Given the description of an element on the screen output the (x, y) to click on. 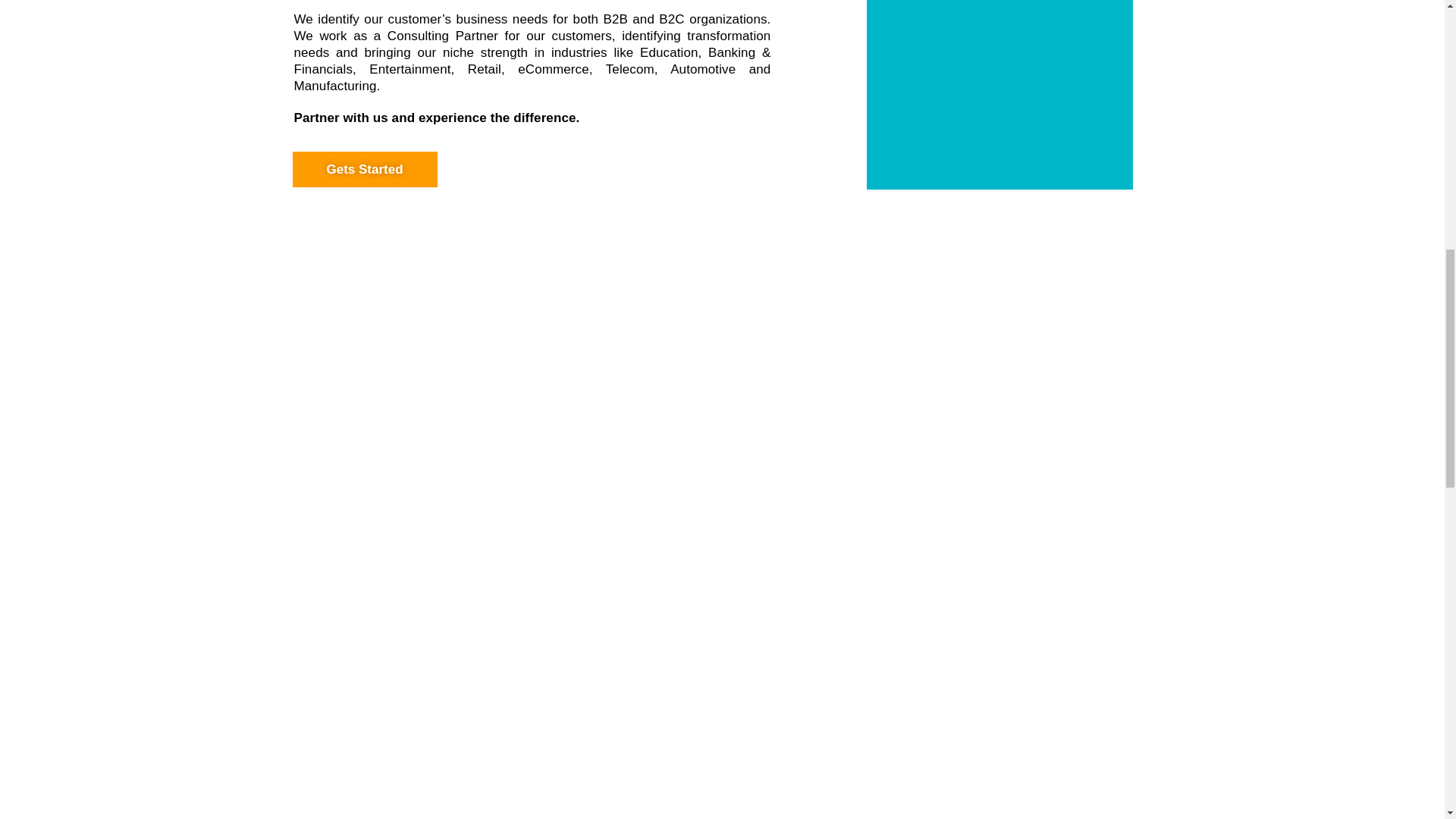
Gets Started (364, 169)
